Given the description of an element on the screen output the (x, y) to click on. 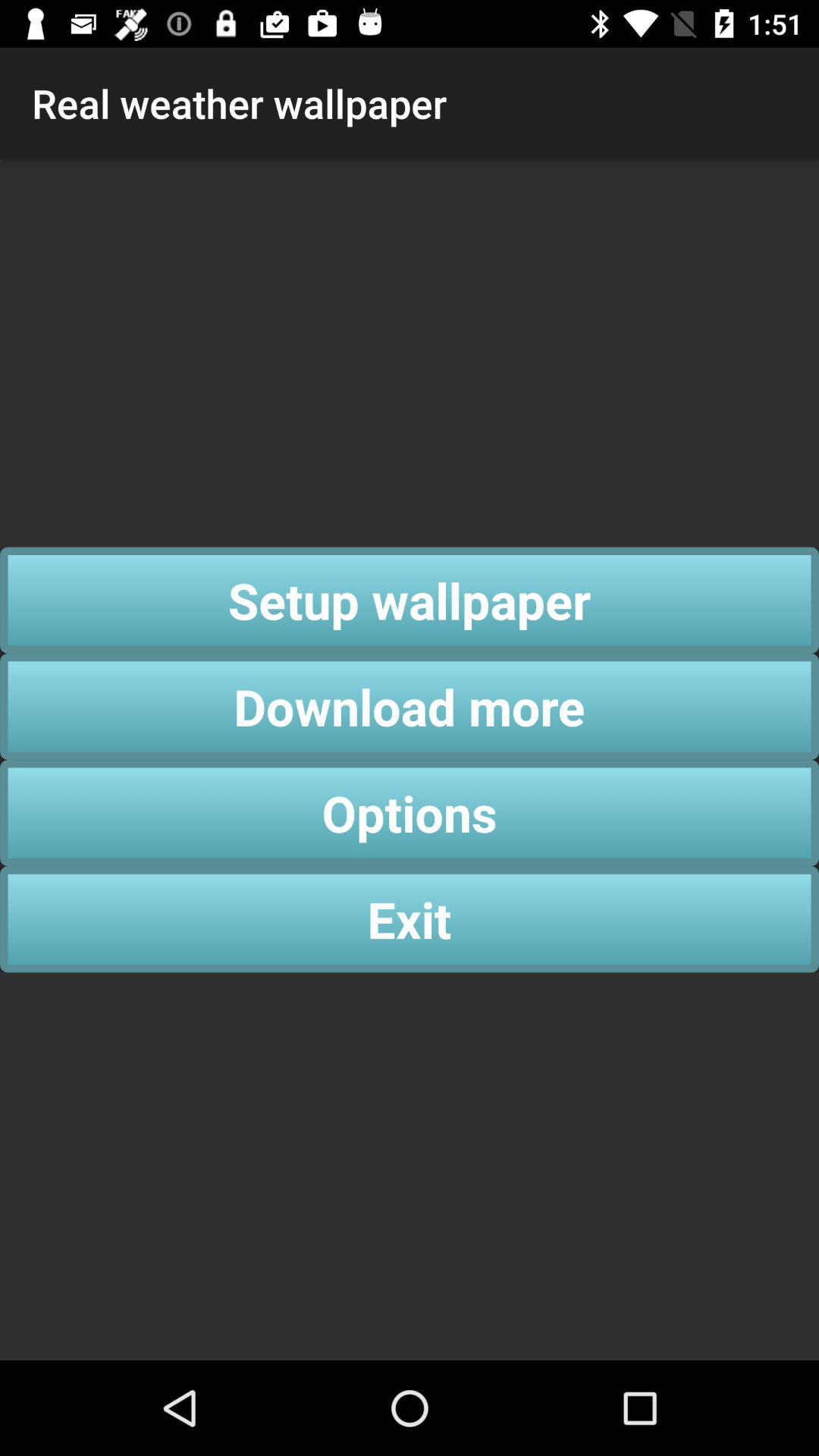
click the app below real weather wallpaper app (409, 600)
